Given the description of an element on the screen output the (x, y) to click on. 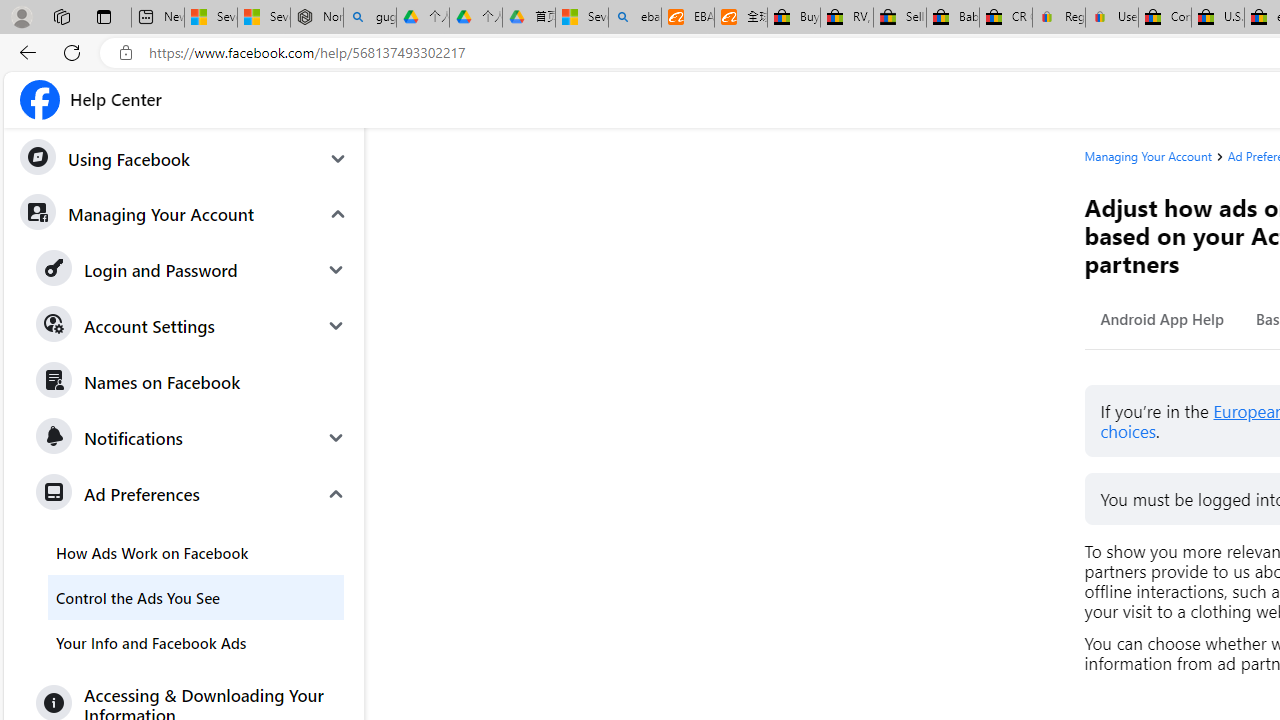
Names on Facebook (191, 381)
Your Info and Facebook Ads (195, 642)
Notifications Expand (191, 437)
Using Facebook (183, 159)
Account Settings Expand (191, 326)
Ad Preferences Expand (191, 493)
Ad Preferences (191, 493)
How Ads Work on Facebook (196, 552)
Login and Password (191, 269)
User Privacy Notice | eBay (1111, 17)
